Given the description of an element on the screen output the (x, y) to click on. 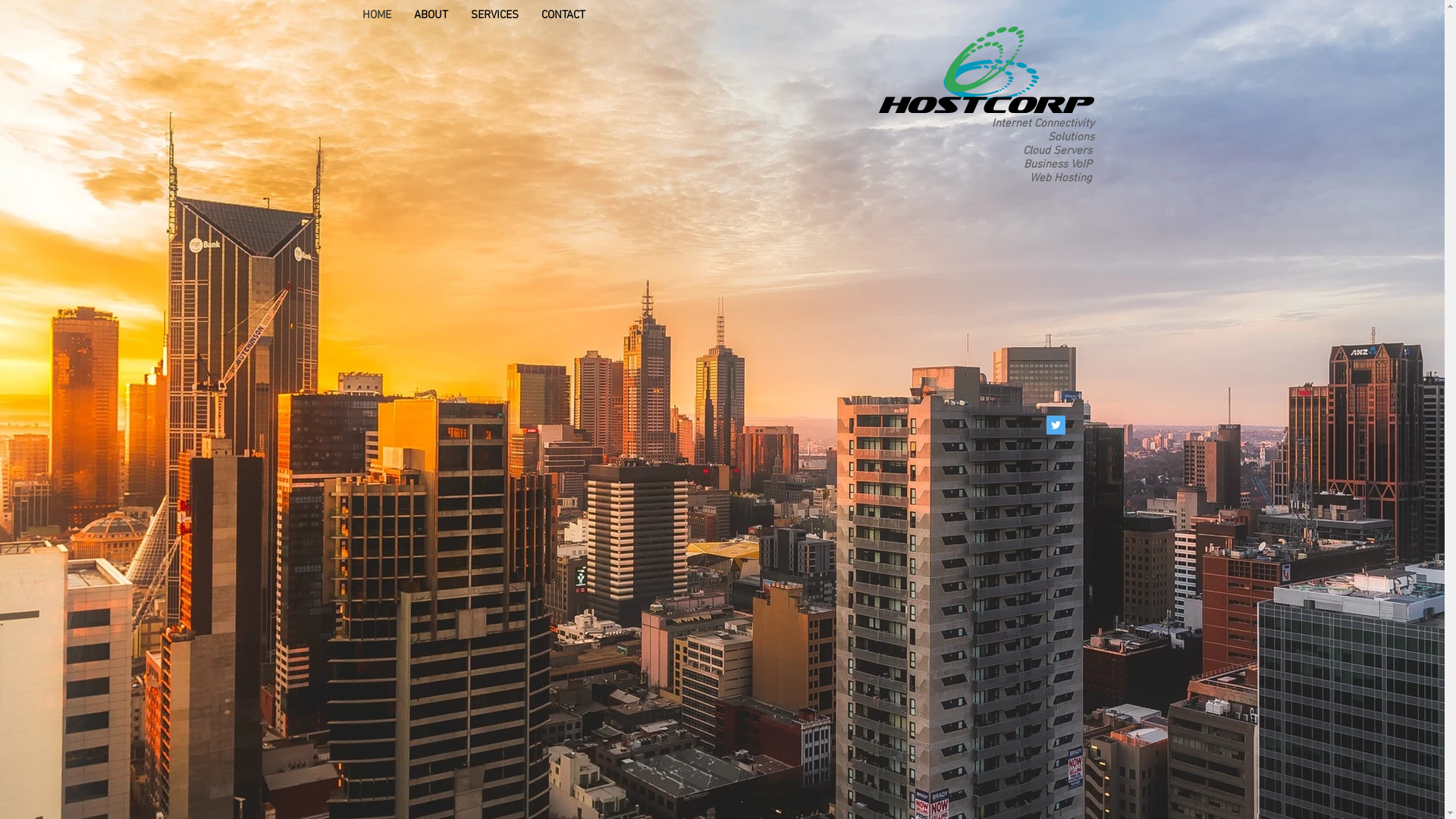
ABOUT Element type: text (429, 15)
Internet Connectivity Solutions Element type: text (1042, 130)
HOME Element type: text (375, 15)
Web Hosting Element type: text (1060, 178)
Cloud Servers Element type: text (1056, 150)
Business VoIP Element type: text (1057, 164)
SERVICES Element type: text (494, 15)
CONTACT Element type: text (562, 15)
